Given the description of an element on the screen output the (x, y) to click on. 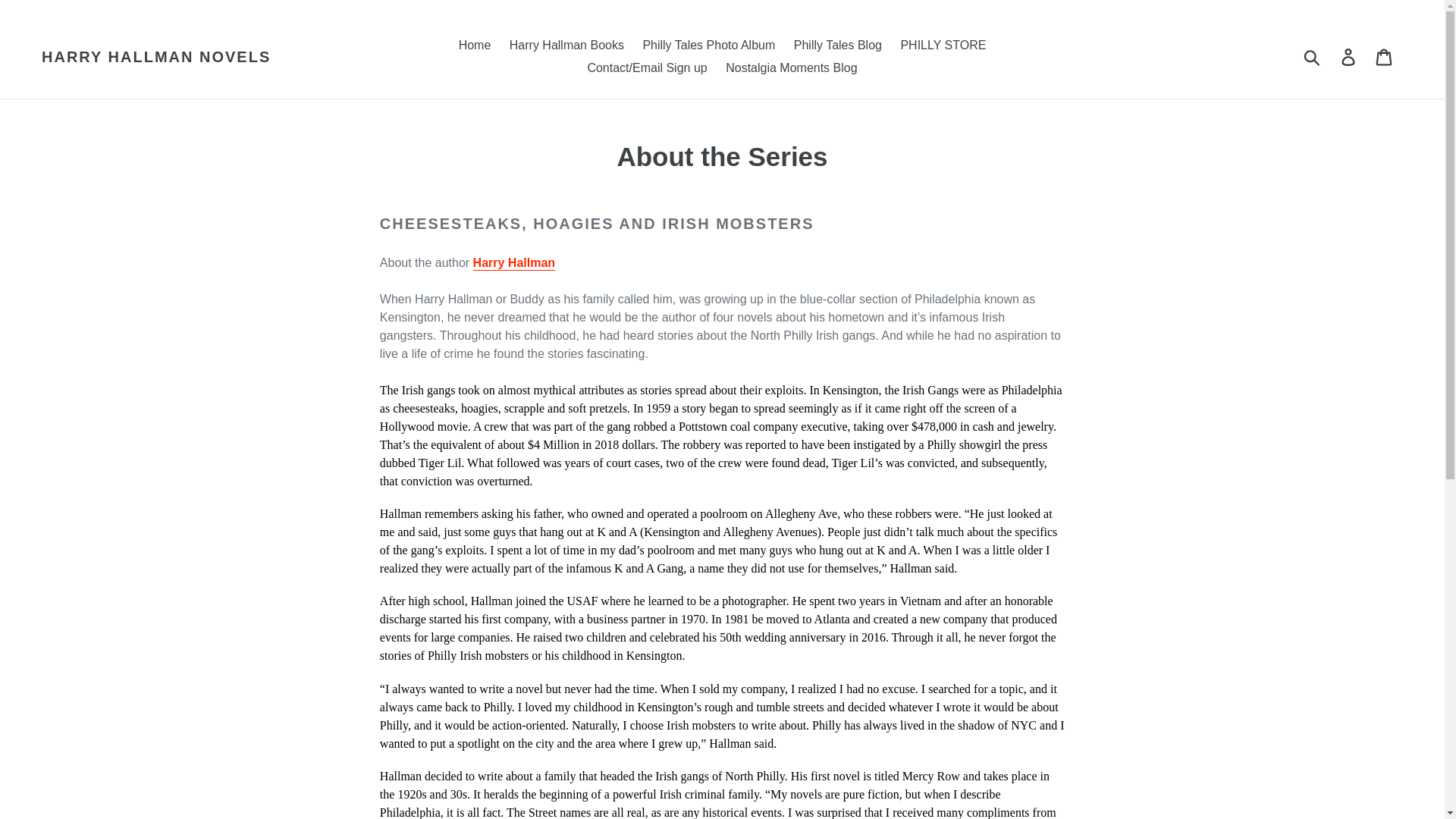
Philly Tales Blog (837, 45)
PHILLY STORE (942, 45)
Nostalgia Moments Blog (790, 67)
Home (475, 45)
Cart (1385, 56)
Harry Hallman (514, 263)
Harry Hallman Books (566, 45)
Submit (1313, 56)
Philly Tales Photo Album (708, 45)
Log in (1349, 56)
HARRY HALLMAN NOVELS (156, 56)
